Given the description of an element on the screen output the (x, y) to click on. 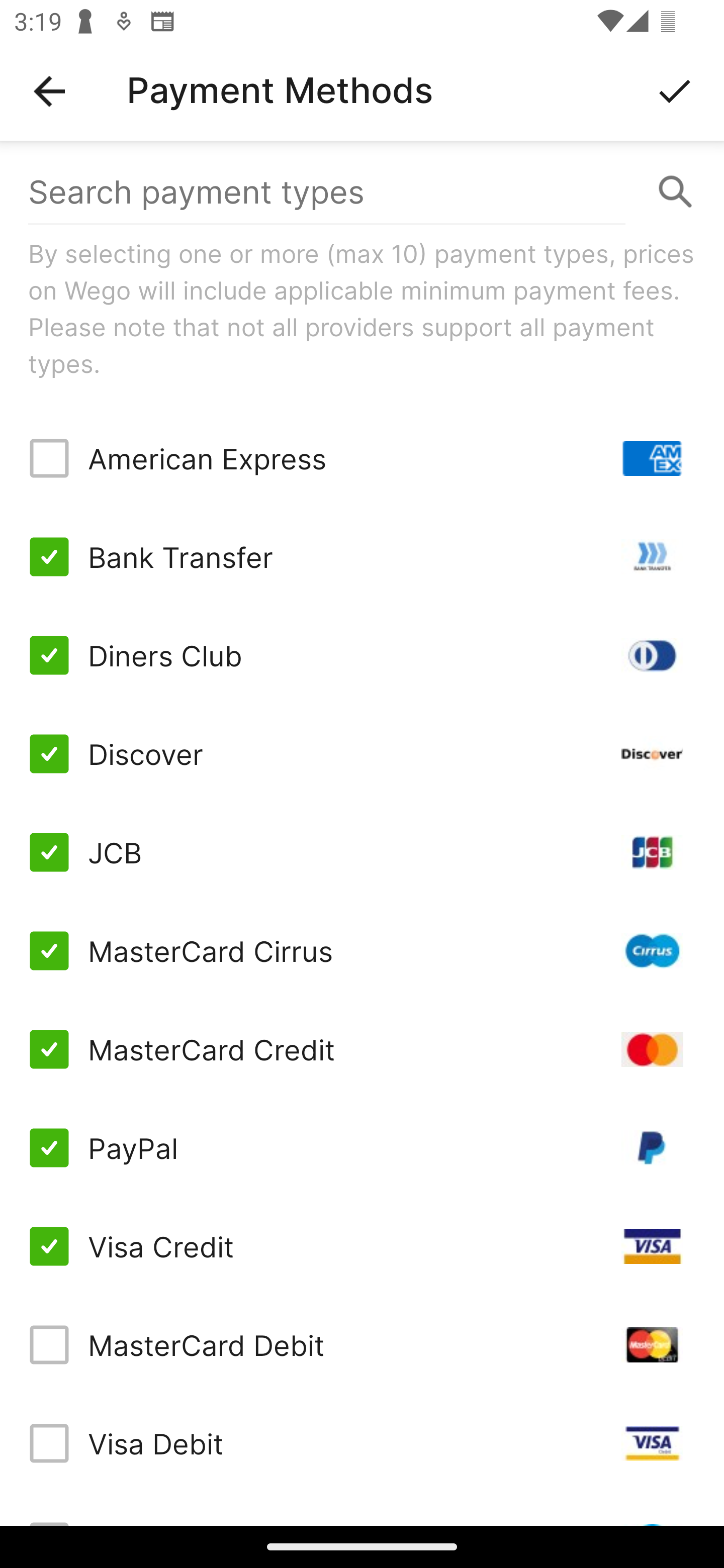
Search payment types  (361, 191)
American Express (362, 458)
Bank Transfer (362, 557)
Diners Club (362, 655)
Discover (362, 753)
JCB (362, 851)
MasterCard Cirrus (362, 950)
MasterCard Credit (362, 1049)
PayPal (362, 1147)
Visa Credit (362, 1245)
MasterCard Debit (362, 1344)
Visa Debit (362, 1442)
